Given the description of an element on the screen output the (x, y) to click on. 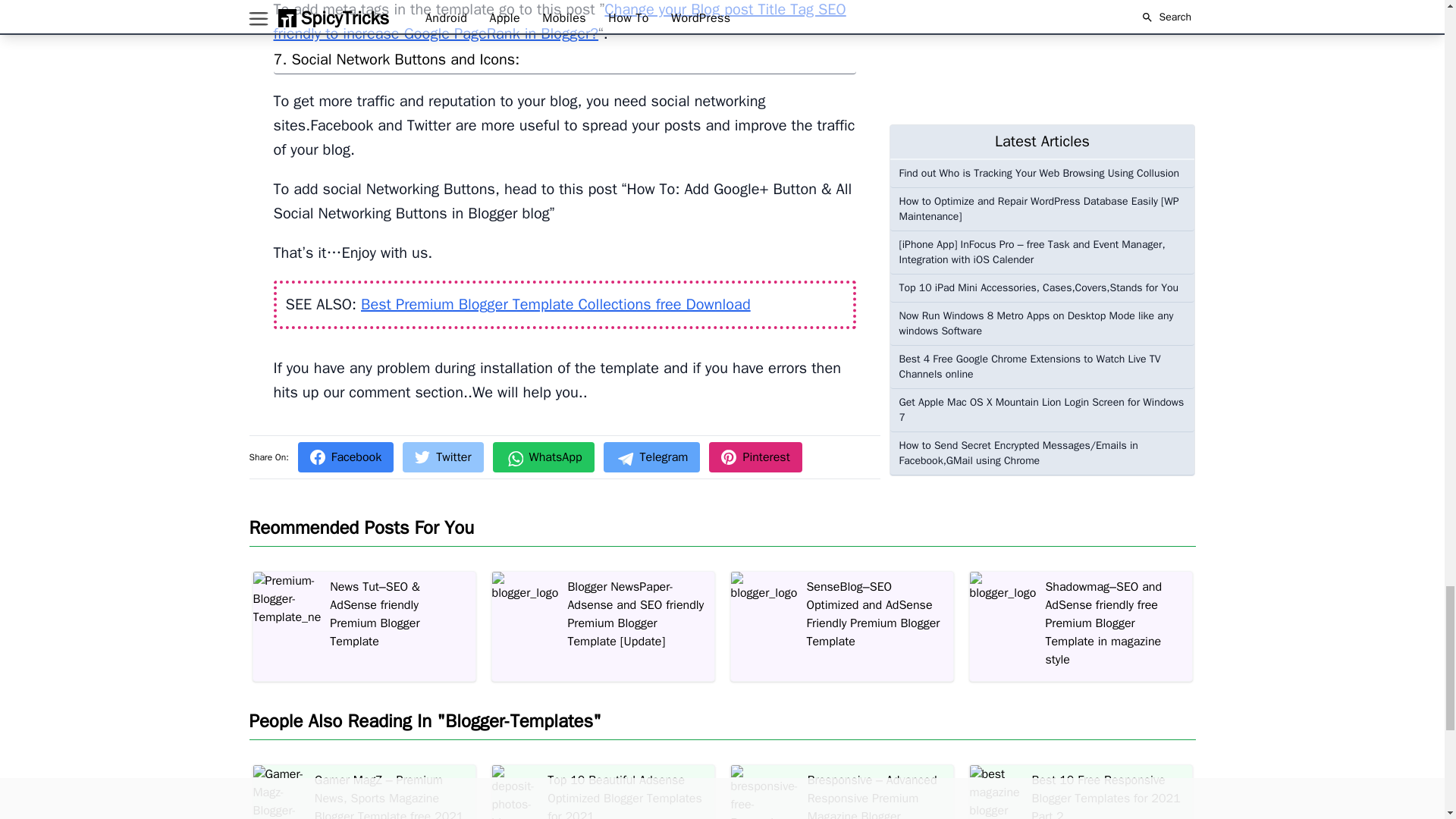
Share on WhatsApp (543, 457)
Share on Pinterest (755, 457)
Share on Telegram (652, 457)
Twitter (443, 457)
Share on Facebook (345, 457)
Best Premium Blogger Template Collections free Download (556, 303)
Telegram (652, 457)
Pinterest (755, 457)
Facebook (345, 457)
WhatsApp (543, 457)
